Given the description of an element on the screen output the (x, y) to click on. 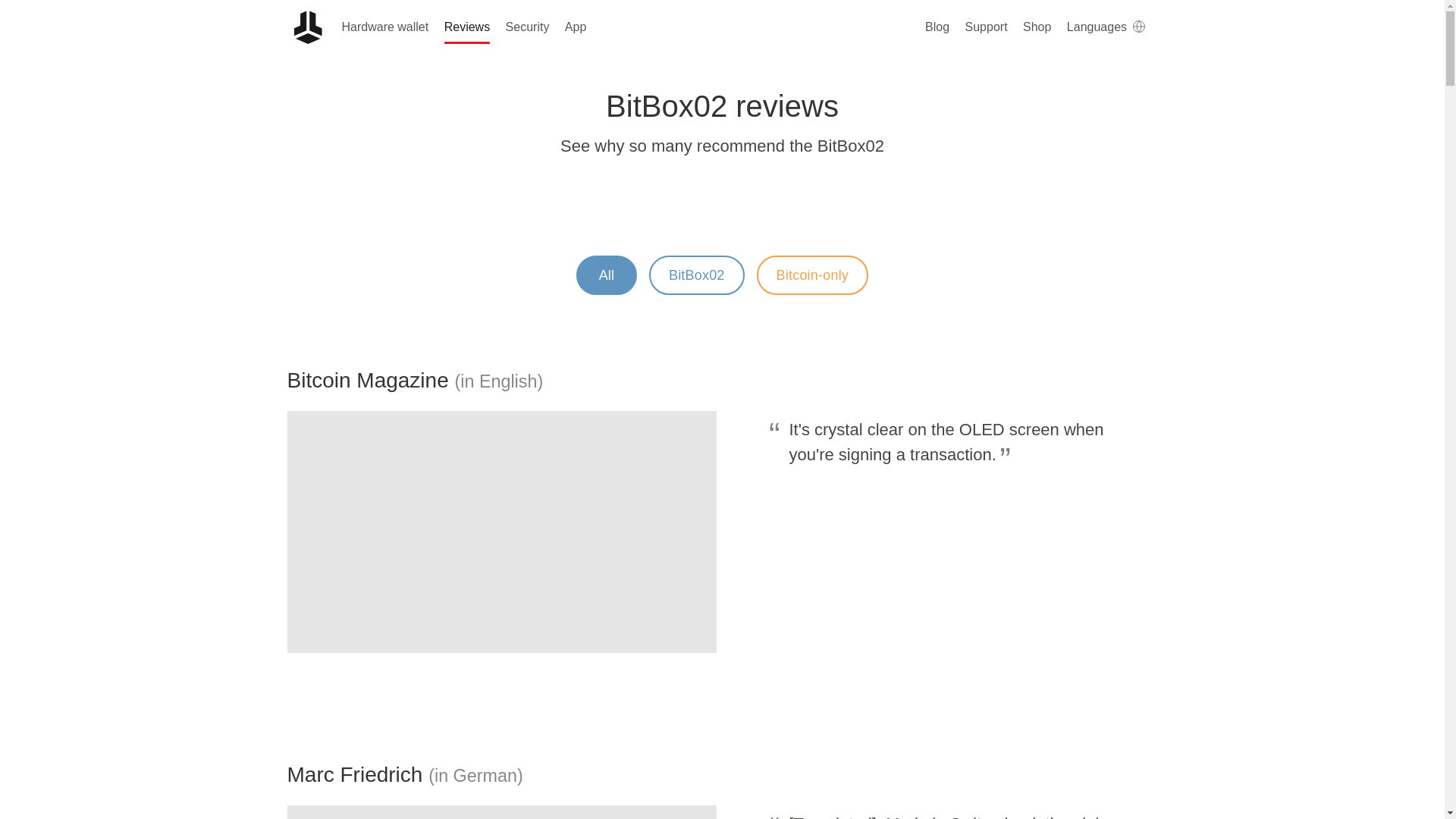
BitBox02 (696, 274)
Bitcoin-only (812, 274)
All (606, 274)
Hardware wallet (383, 27)
Reviews (467, 27)
Support (986, 27)
Security (527, 27)
